Given the description of an element on the screen output the (x, y) to click on. 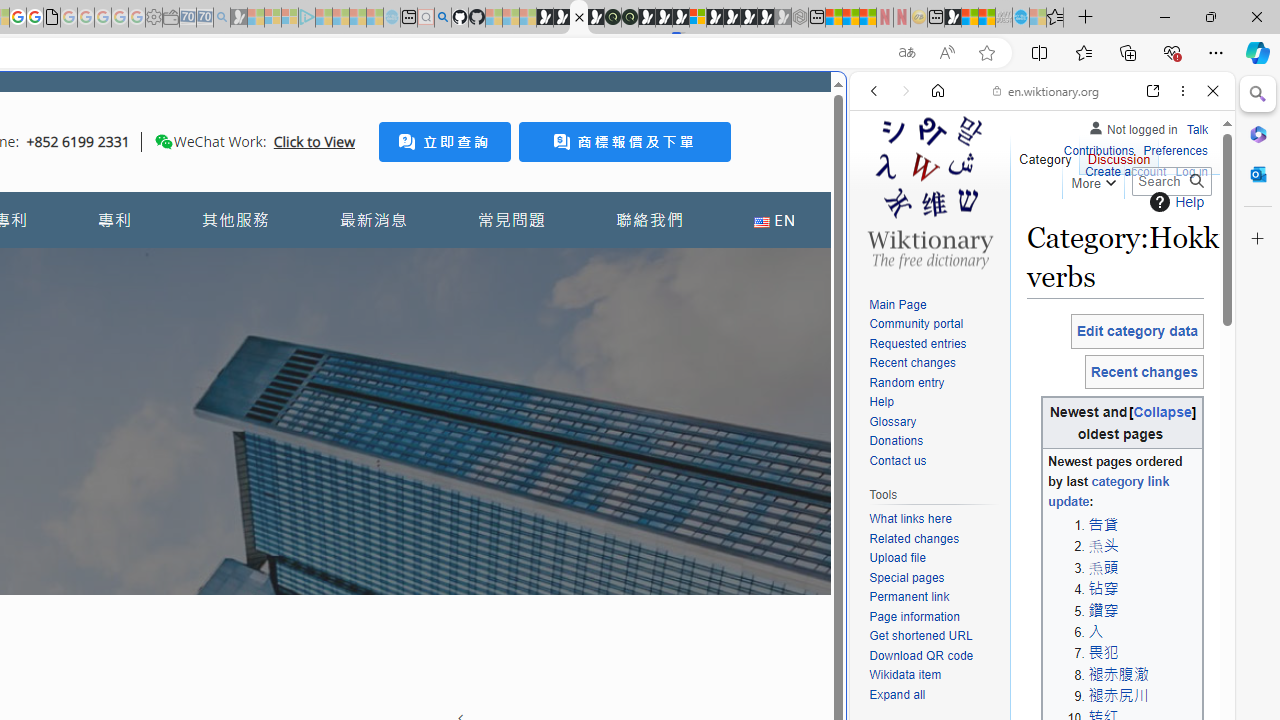
github - Search (442, 17)
Talk (1197, 129)
Glossary (892, 421)
Special pages (934, 578)
